Given the description of an element on the screen output the (x, y) to click on. 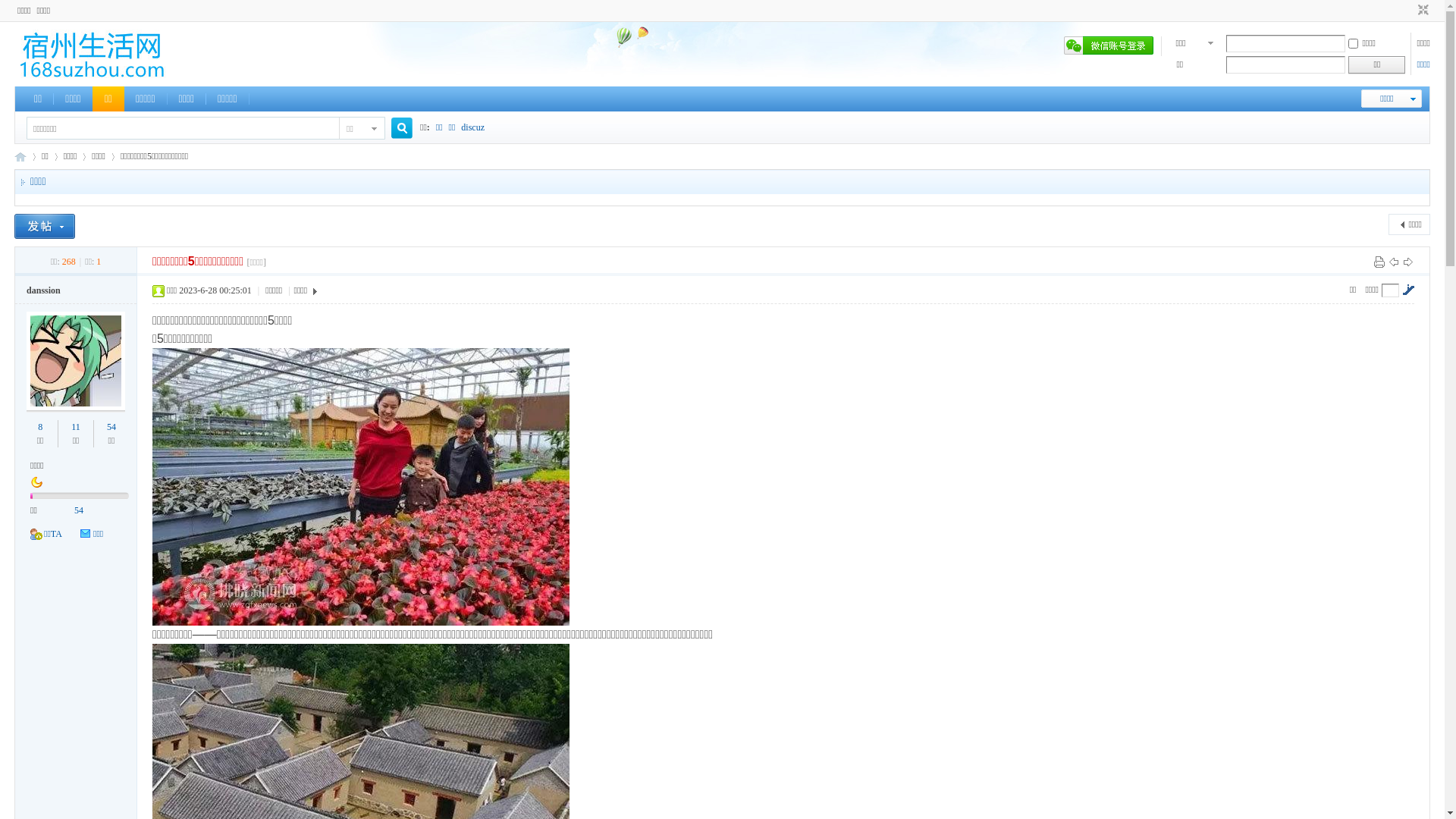
11 Element type: text (75, 426)
discuz Element type: text (472, 127)
true Element type: text (396, 128)
danssion Element type: text (43, 290)
8 Element type: text (39, 426)
54 Element type: text (78, 510)
54 Element type: text (111, 426)
